Given the description of an element on the screen output the (x, y) to click on. 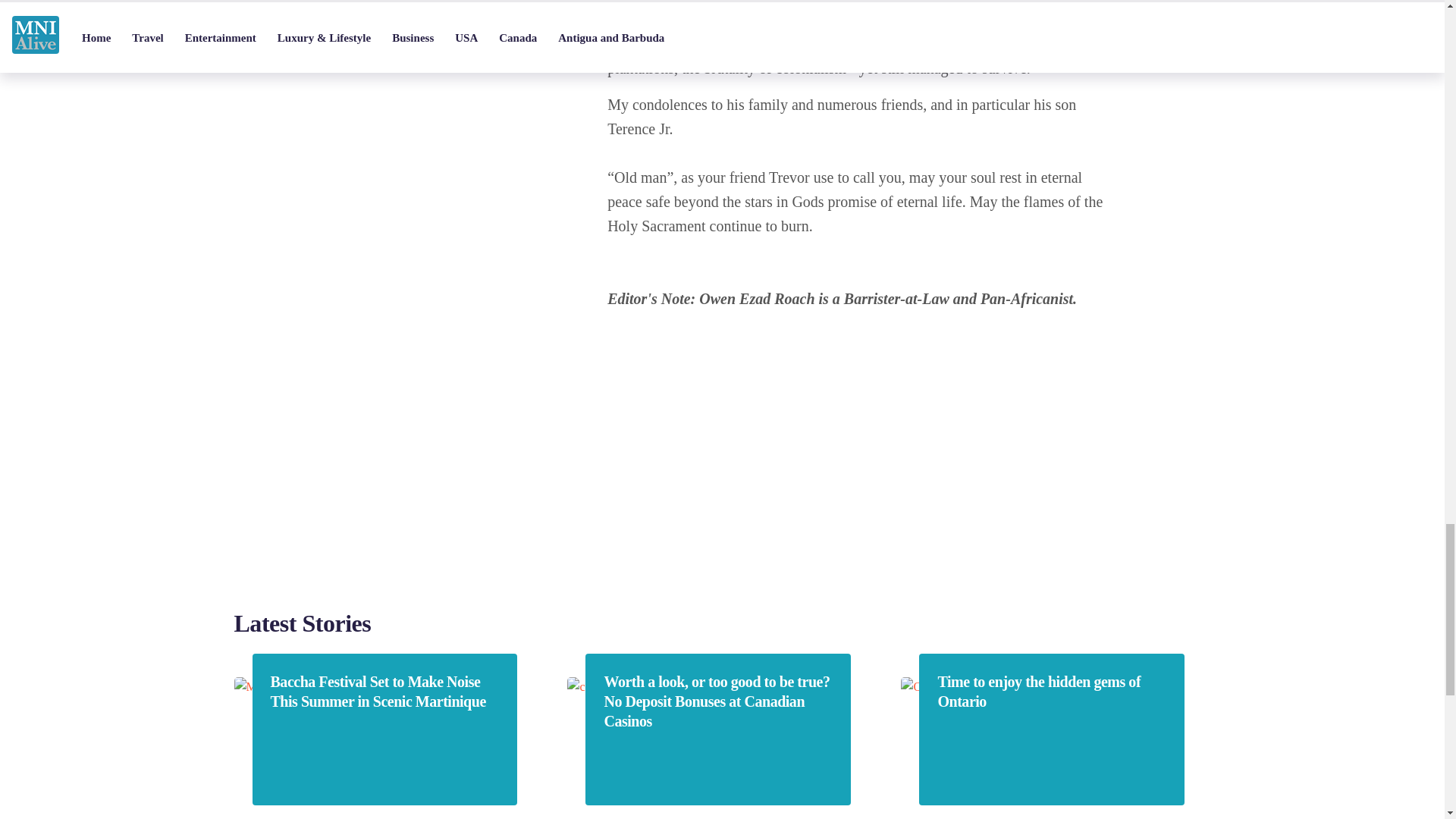
Time to enjoy the hidden gems of Ontario (1051, 691)
